Given the description of an element on the screen output the (x, y) to click on. 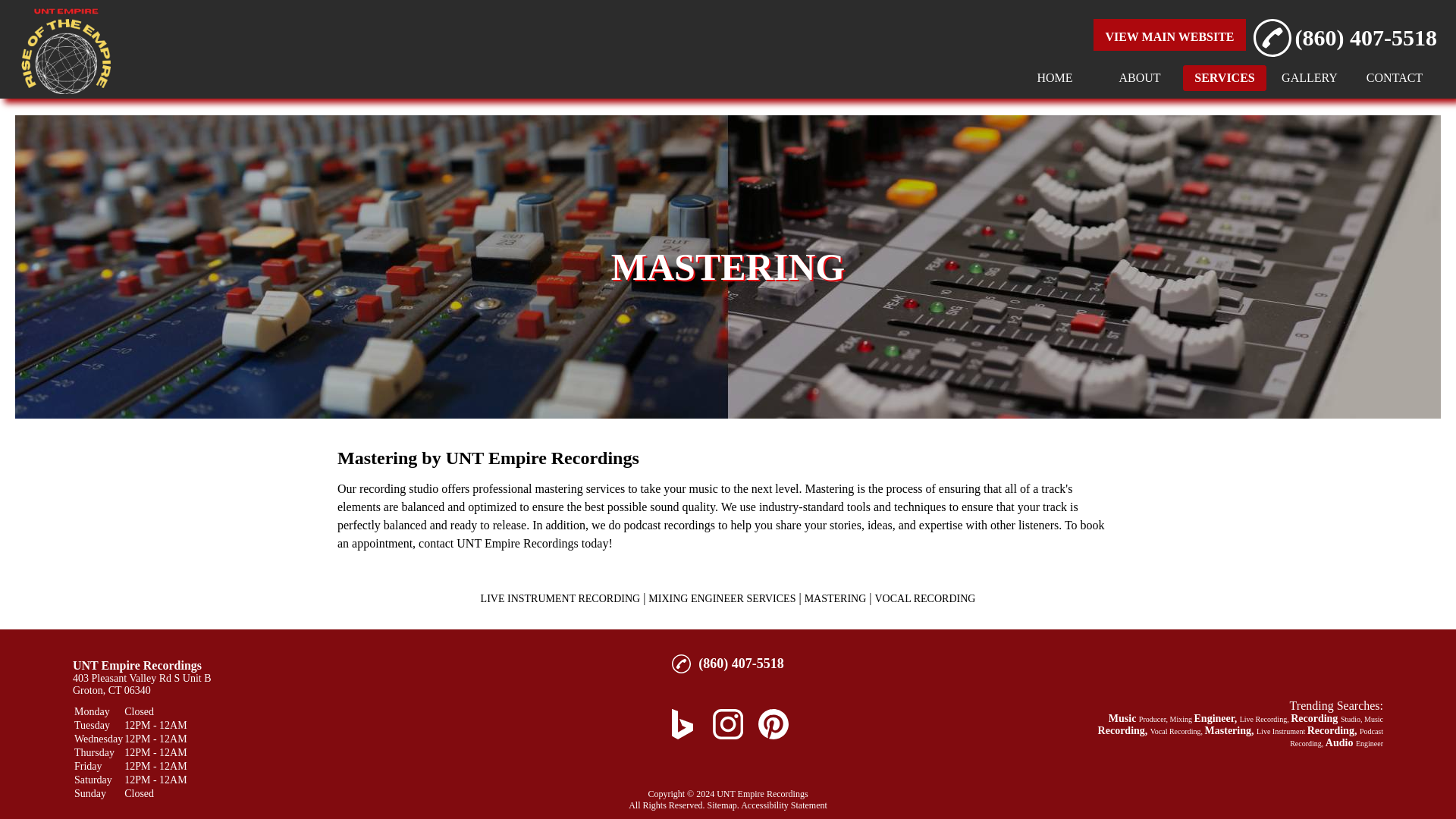
Accessibility Statement (784, 805)
MASTERING (835, 598)
VIEW MAIN WEBSITE (1169, 36)
LIVE INSTRUMENT RECORDING (560, 598)
podcast recording (667, 524)
Sitemap. (721, 805)
CONTACT (1393, 77)
MIXING ENGINEER SERVICES (721, 598)
GALLERY (1309, 77)
mastering (559, 488)
VOCAL RECORDING (925, 598)
HOME (1054, 77)
recording studio (398, 488)
ABOUT (1138, 77)
